Given the description of an element on the screen output the (x, y) to click on. 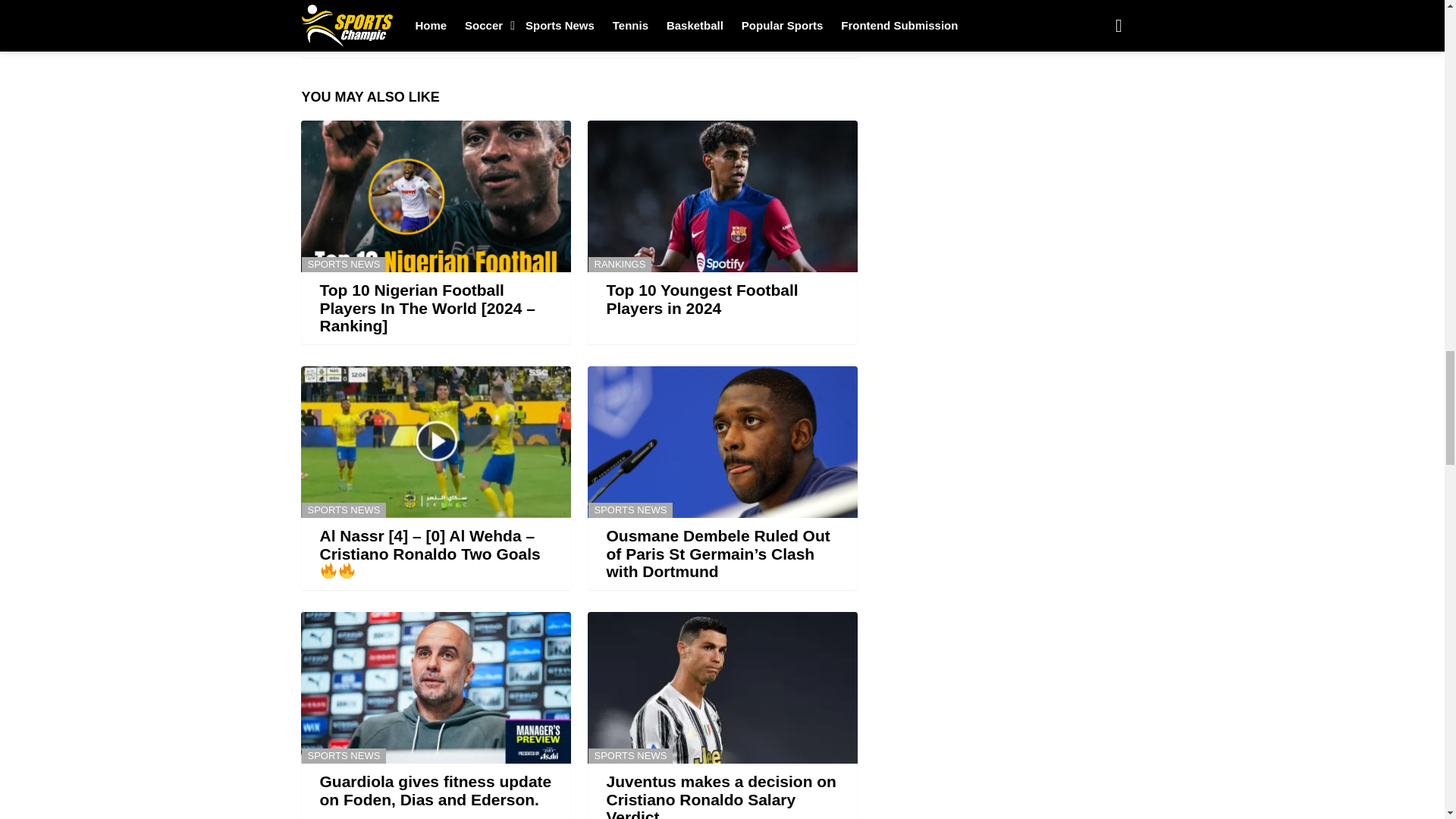
Guardiola gives fitness update on Foden, Dias and Ederson. (434, 687)
Top 10 Youngest Football Players in 2024 (721, 195)
SPORTS NEWS (344, 509)
SPORTS NEWS (344, 264)
SPORTS NEWS (630, 509)
RANKINGS (620, 264)
Top 10 Youngest Football Players in 2024 (702, 298)
